Given the description of an element on the screen output the (x, y) to click on. 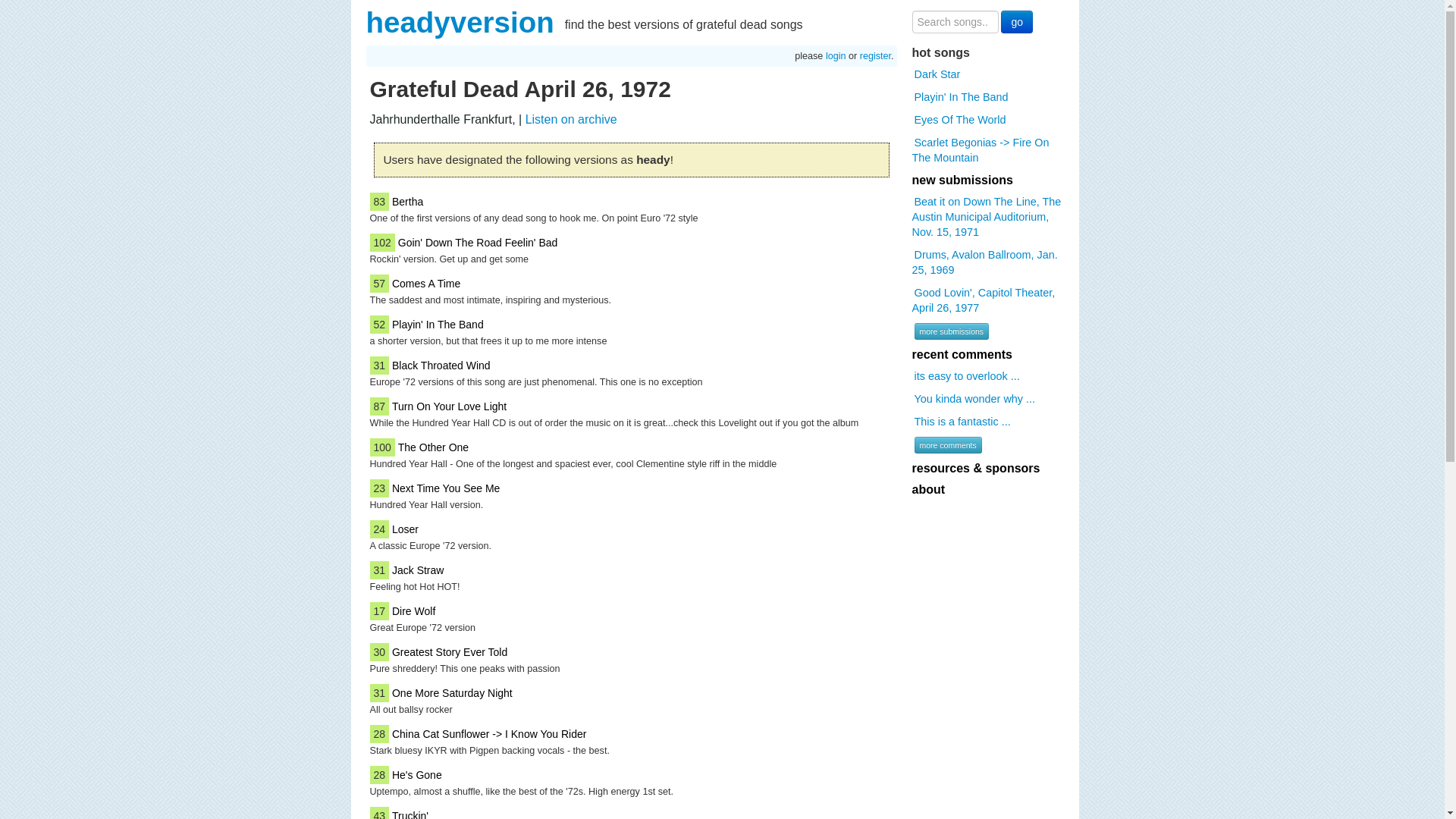
Eyes Of The World (959, 119)
login (835, 55)
Goin' Down The Road Feelin' Bad (477, 242)
One More Saturday Night (451, 693)
Playin' In The Band (960, 96)
Truckin' (409, 813)
Next Time You See Me (445, 488)
new submissions (961, 179)
Comes A Time (425, 283)
